Given the description of an element on the screen output the (x, y) to click on. 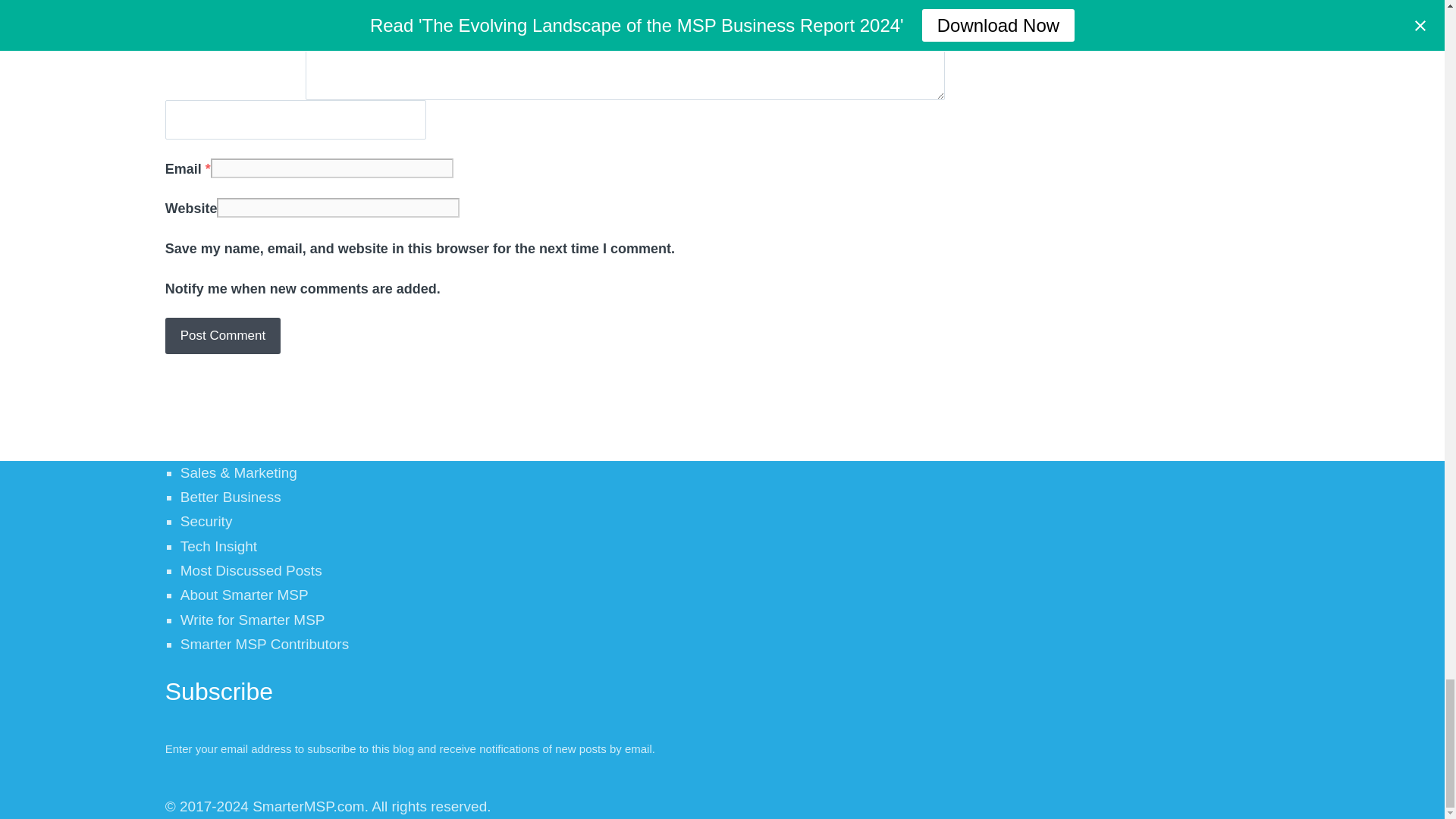
Post Comment (223, 335)
